Given the description of an element on the screen output the (x, y) to click on. 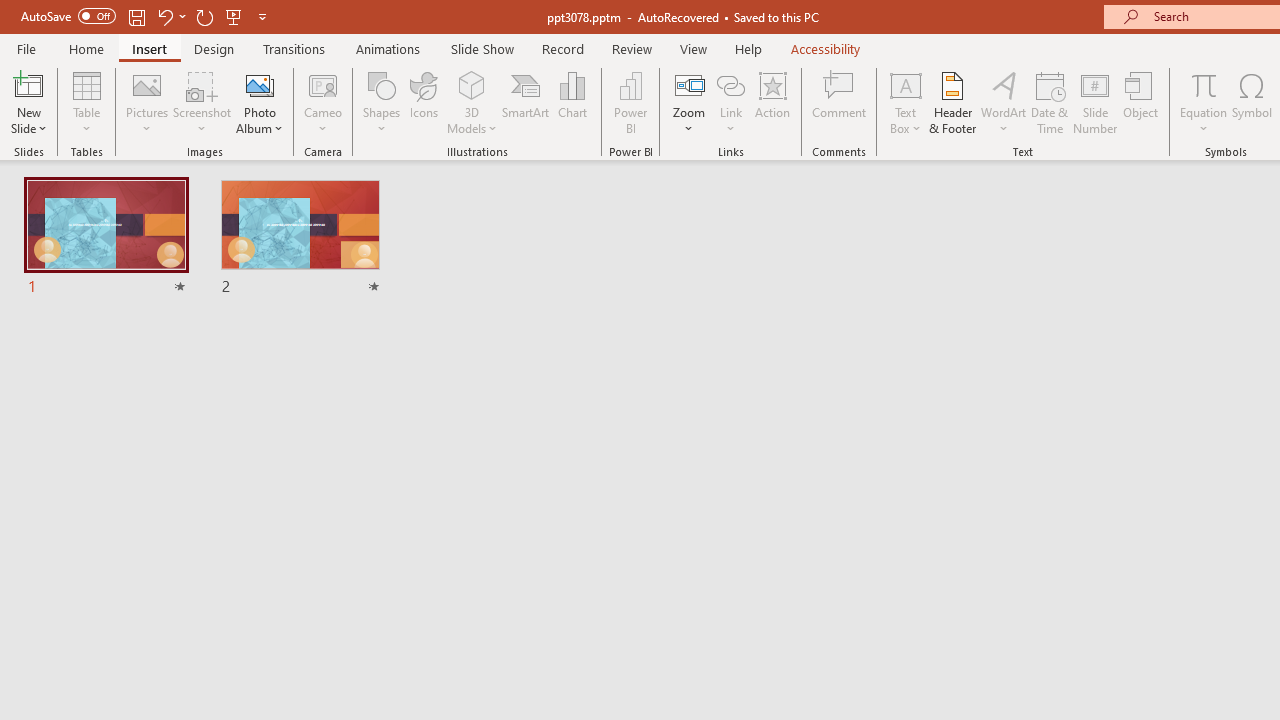
Equation (1203, 84)
Comment (839, 102)
Equation (1203, 102)
SmartArt... (525, 102)
3D Models (472, 102)
New Photo Album... (259, 84)
Photo Album... (259, 102)
